Given the description of an element on the screen output the (x, y) to click on. 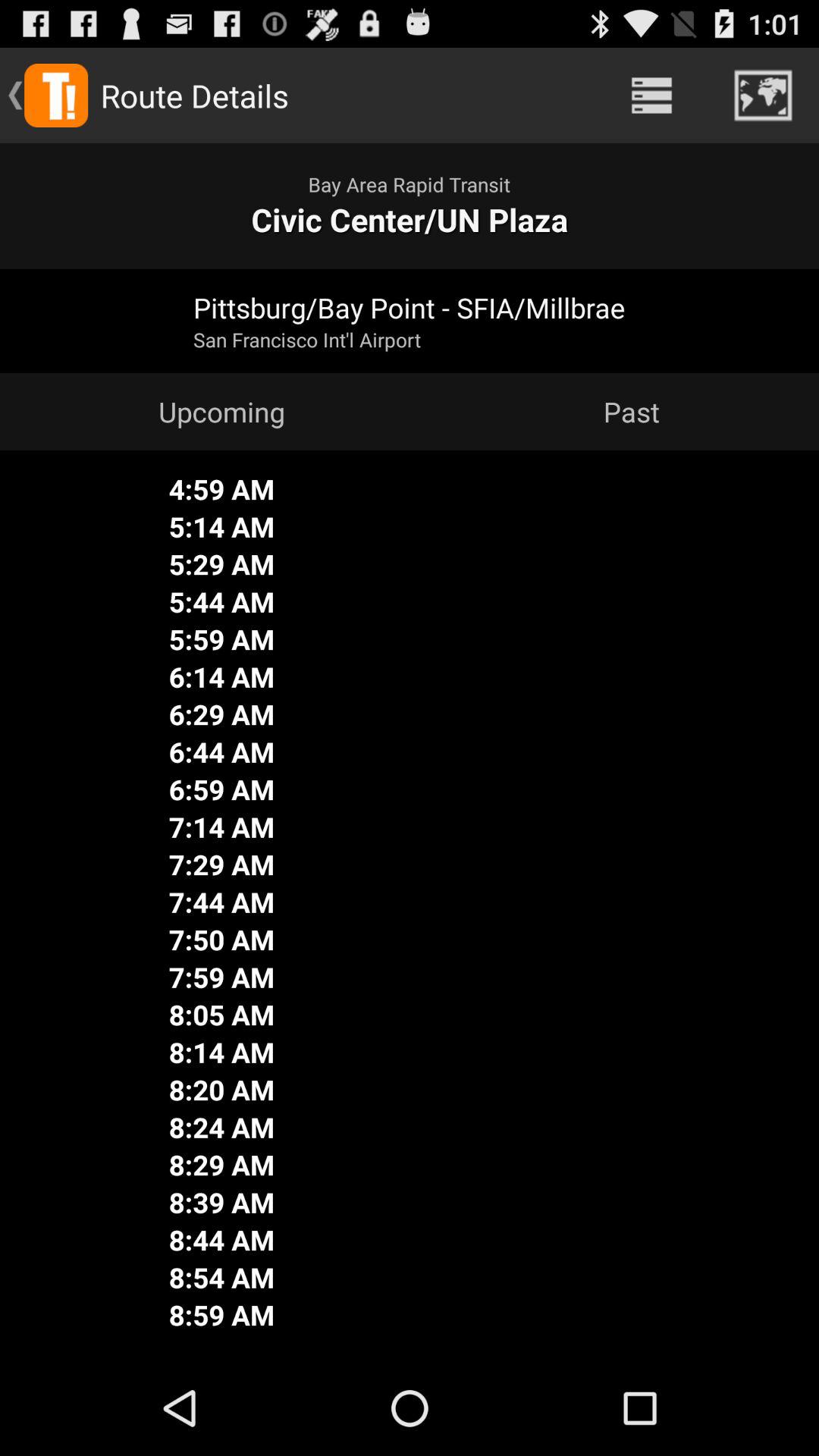
press the icon above the civic center un icon (651, 95)
